Given the description of an element on the screen output the (x, y) to click on. 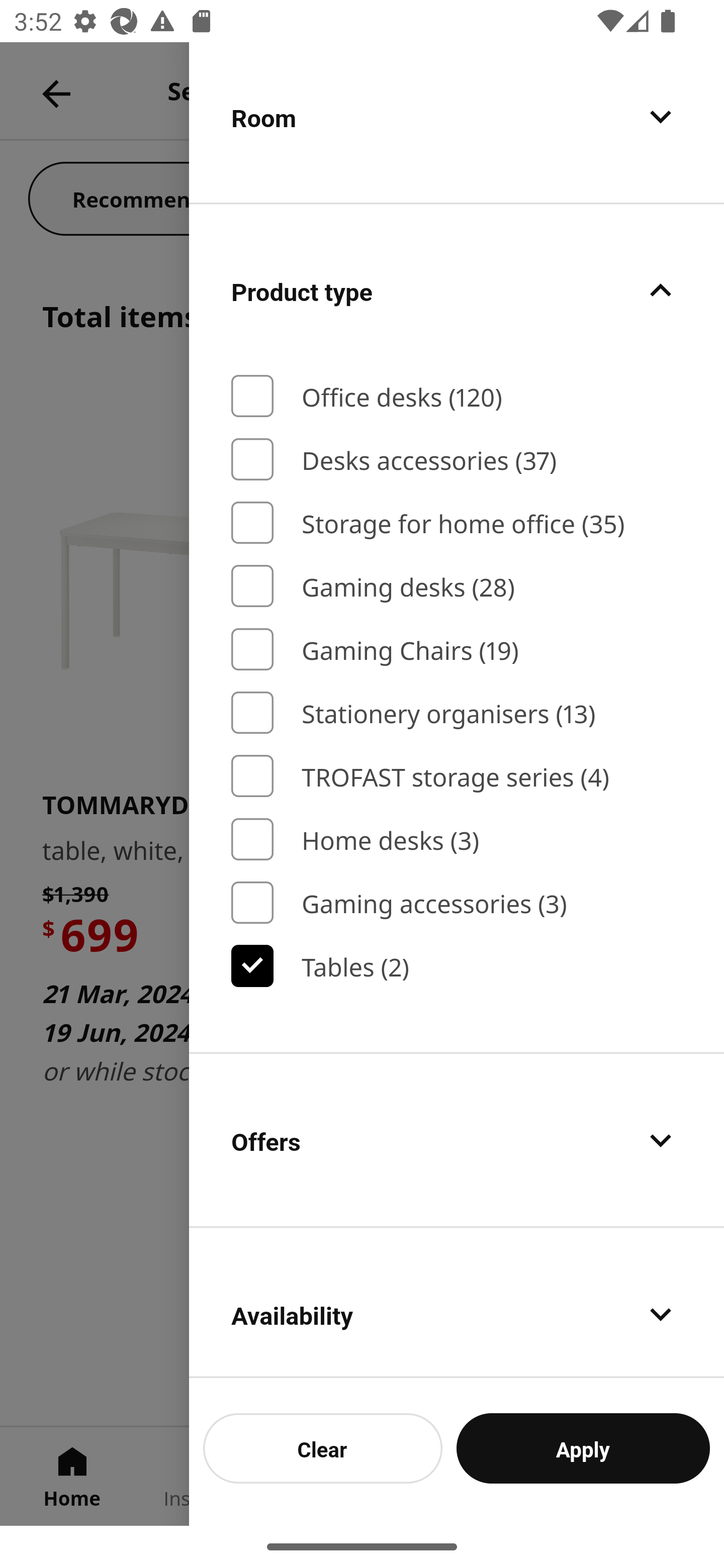
Room (456, 121)
Product type (456, 289)
Office desks (120) (456, 395)
Desks accessories (37) (456, 458)
Storage for home office (35) (456, 522)
Gaming desks (28) (456, 585)
Gaming Chairs (19) (456, 649)
Stationery organisers (13) (456, 712)
TROFAST storage series (4) (456, 775)
Home desks (3) (456, 839)
Gaming accessories (3) (456, 902)
Tables (2) (456, 965)
Offers (456, 1139)
Availability (456, 1302)
Clear (322, 1447)
Apply (583, 1447)
